Given the description of an element on the screen output the (x, y) to click on. 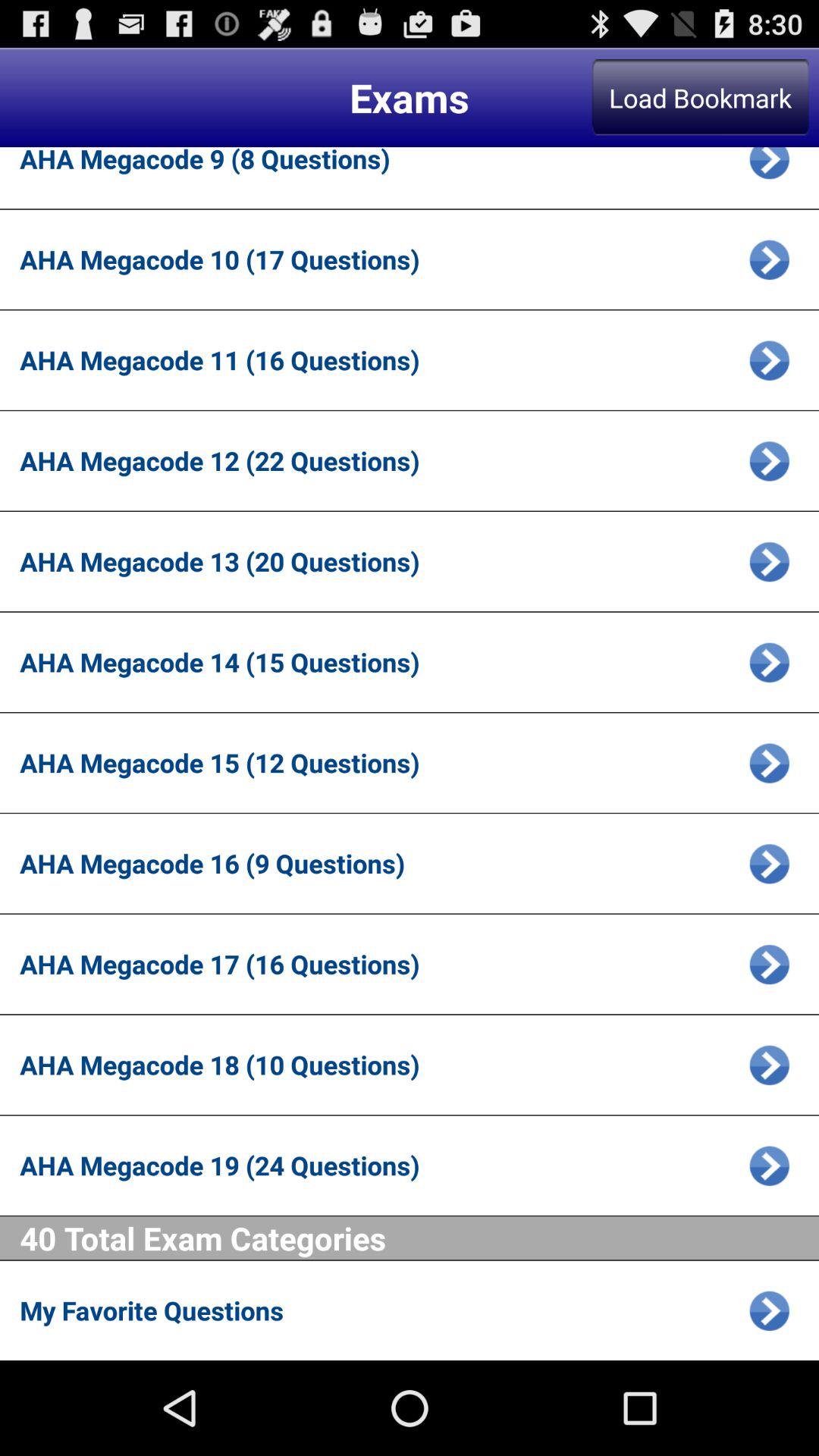
select icon to continue (769, 561)
